Given the description of an element on the screen output the (x, y) to click on. 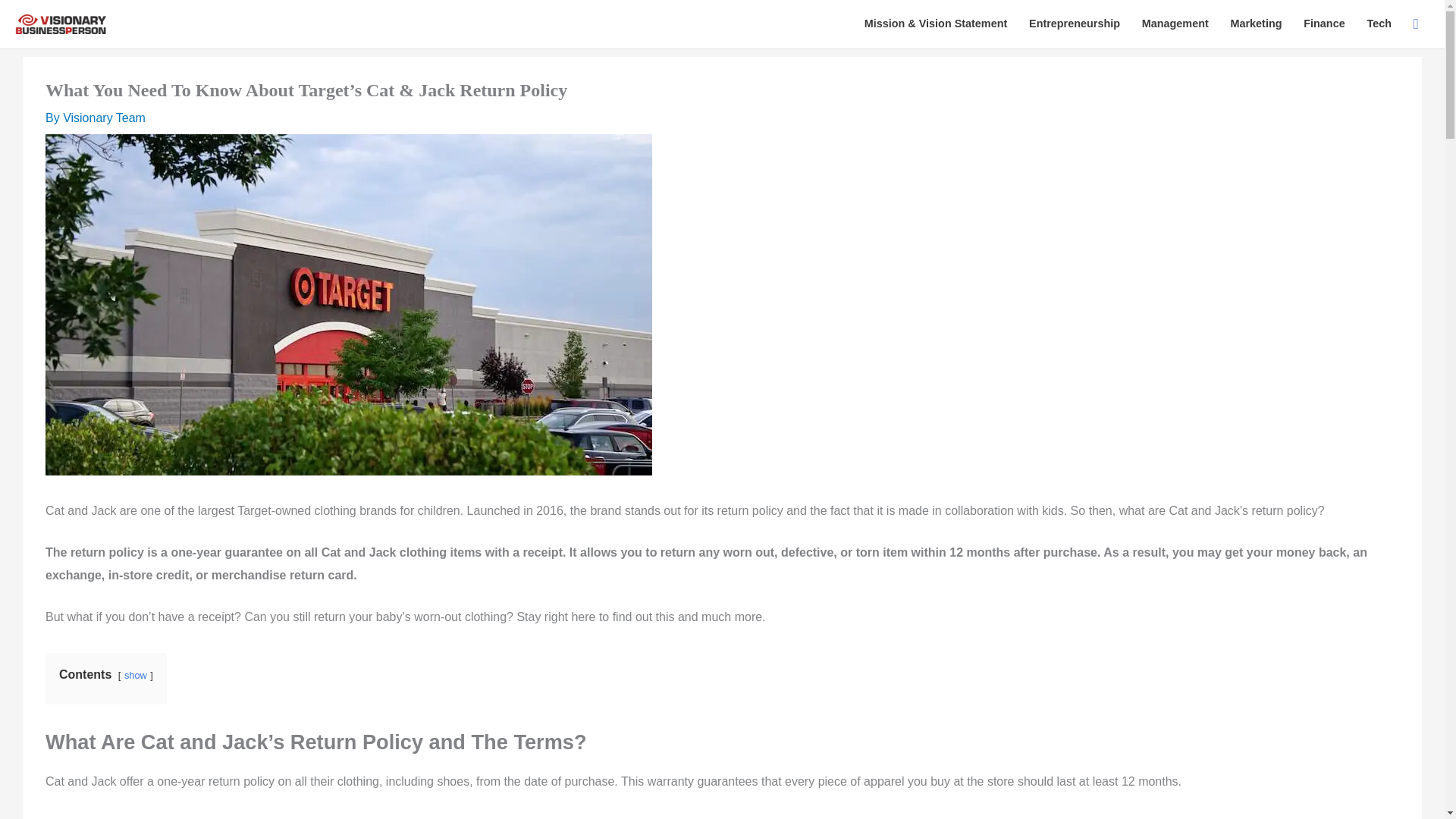
Finance (1323, 24)
Search (1415, 24)
Visionary Team (103, 117)
Management (1175, 24)
Tech (1378, 24)
Marketing (1256, 24)
View all posts by Visionary Team (103, 117)
show (135, 674)
Entrepreneurship (1074, 24)
